Given the description of an element on the screen output the (x, y) to click on. 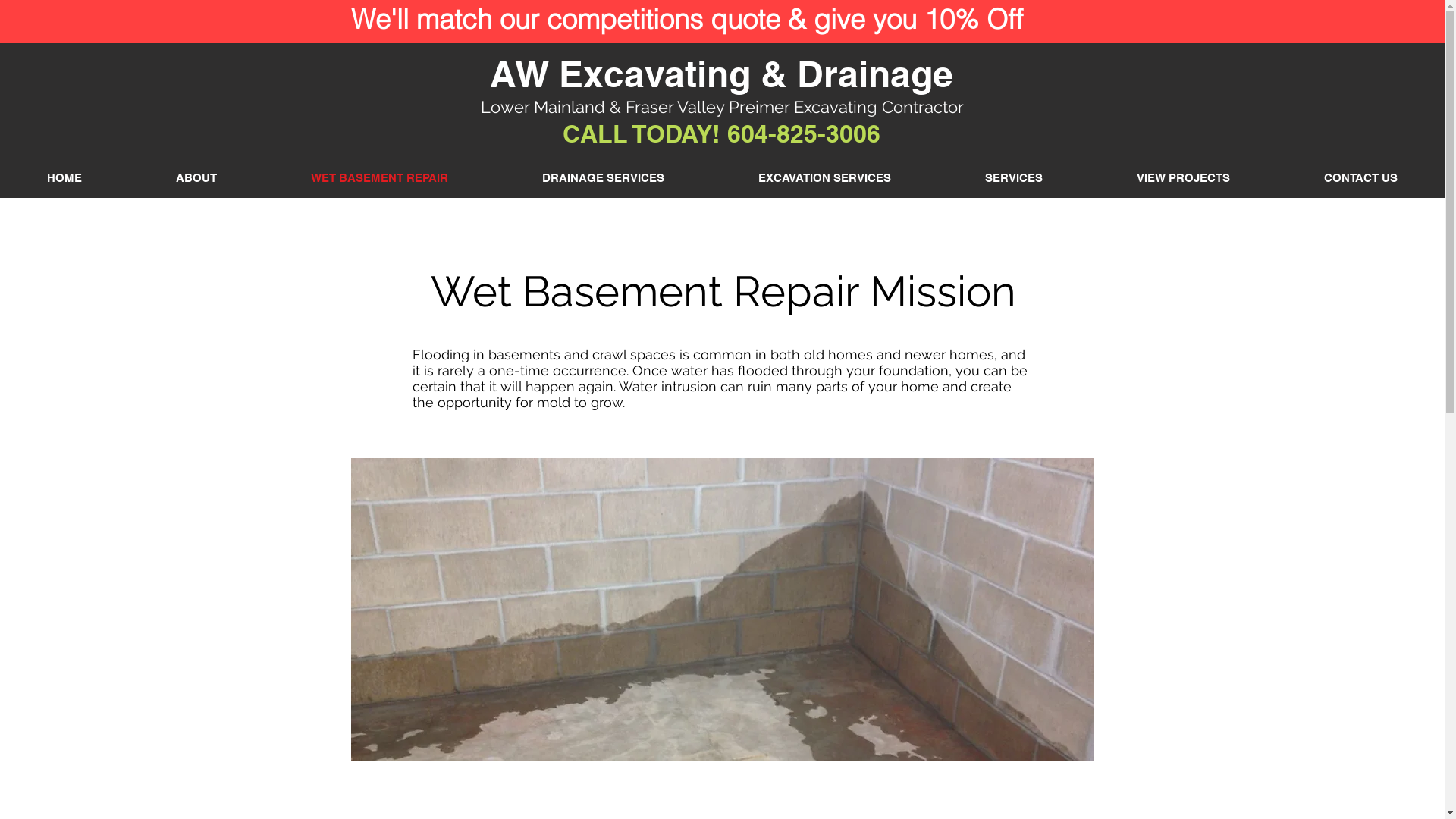
EXCAVATION SERVICES Element type: text (824, 177)
CONTACT US Element type: text (1360, 177)
ABOUT Element type: text (195, 177)
HOME Element type: text (64, 177)
WET BASEMENT REPAIR Element type: text (379, 177)
VIEW PROJECTS Element type: text (1183, 177)
